Given the description of an element on the screen output the (x, y) to click on. 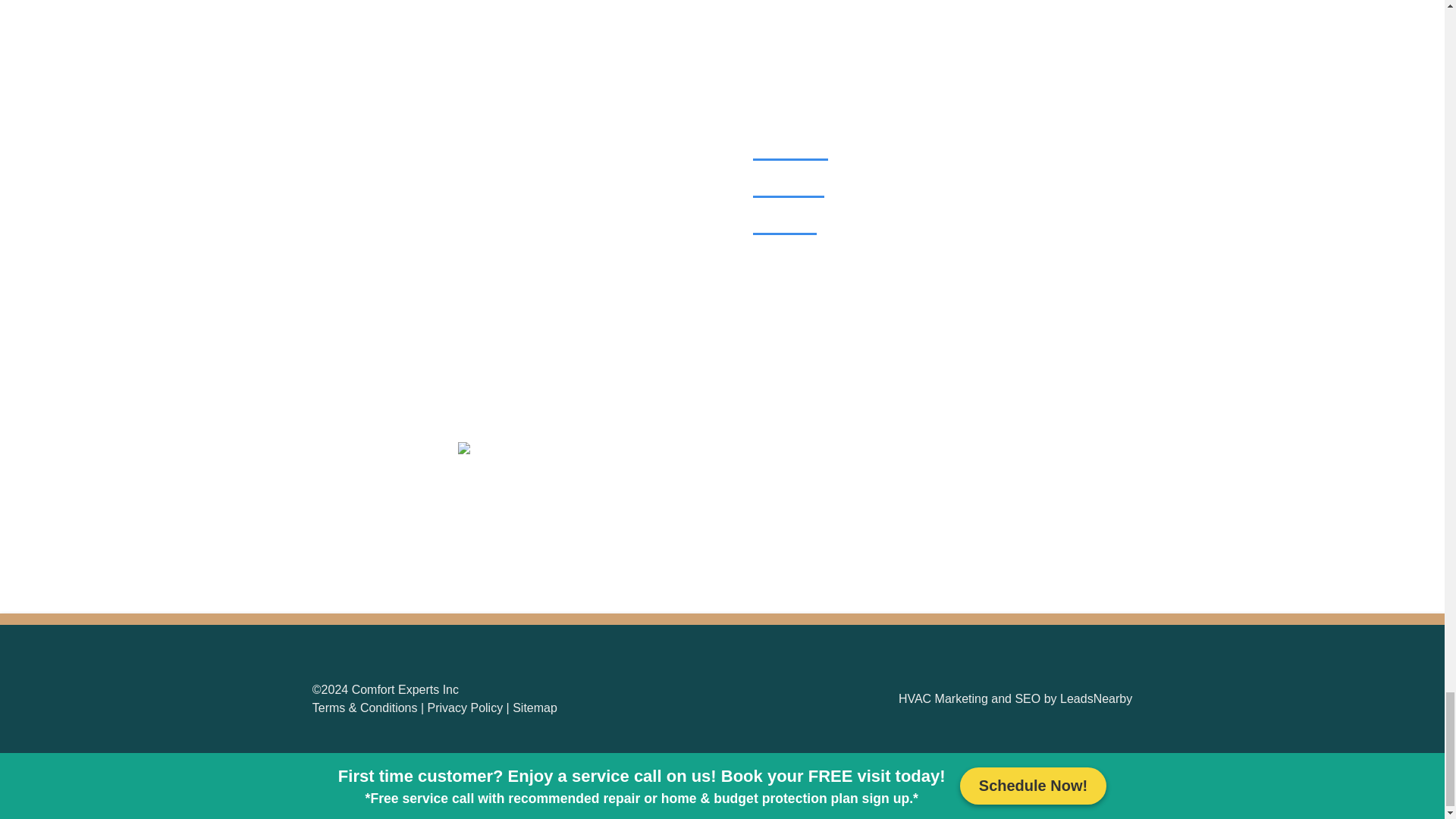
HVAC Marketing and SEO (969, 698)
